Given the description of an element on the screen output the (x, y) to click on. 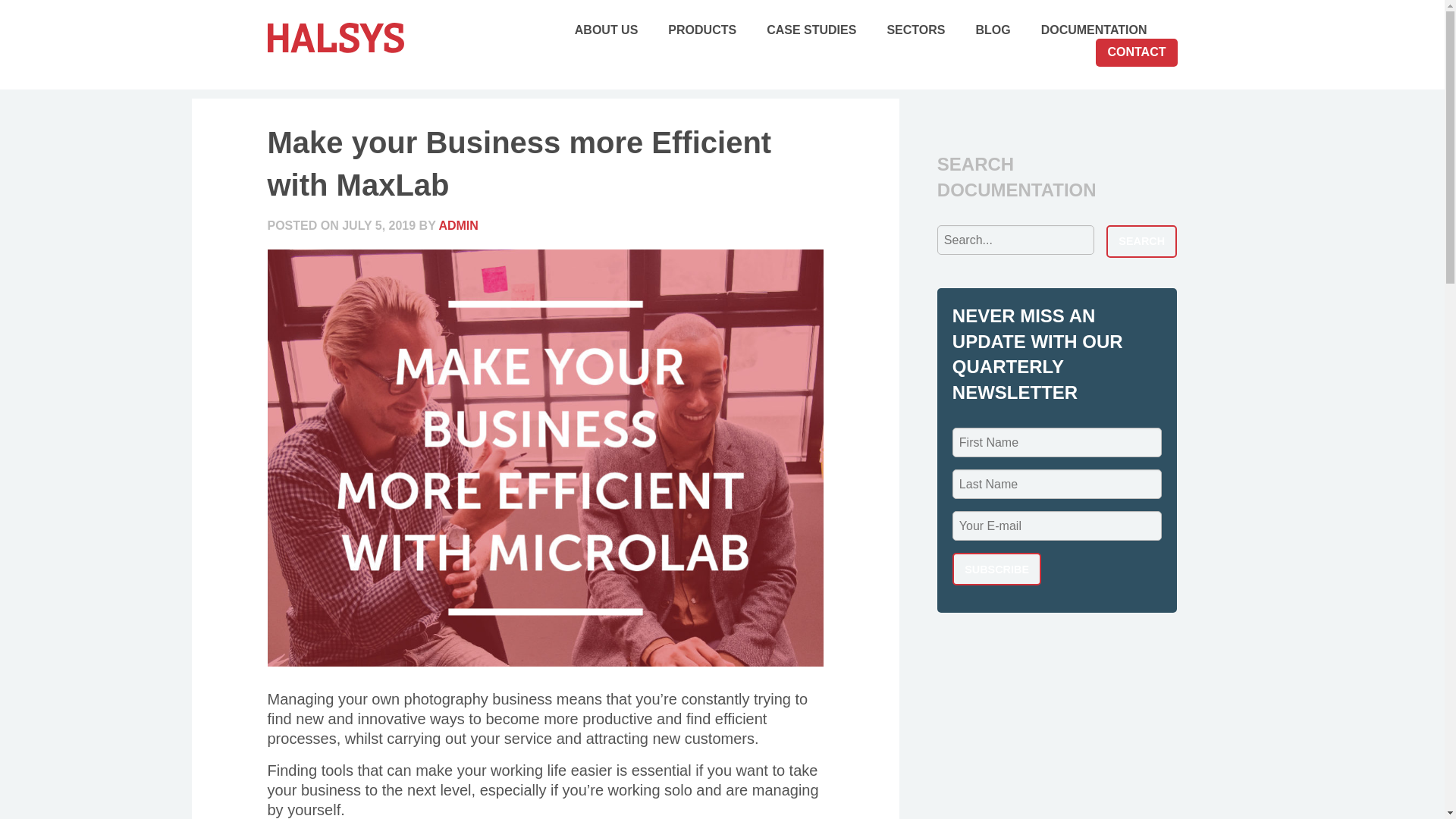
DOCUMENTATION (1094, 30)
BLOG (992, 30)
PRODUCTS (702, 30)
CONTACT (1136, 52)
CASE STUDIES (811, 30)
Search for: (1015, 239)
Posts by Admin (457, 225)
Search (1141, 241)
Subscribe (997, 568)
ABOUT US (607, 30)
Subscribe (997, 568)
SECTORS (915, 30)
Search (1141, 241)
ADMIN (457, 225)
Search (1141, 241)
